Given the description of an element on the screen output the (x, y) to click on. 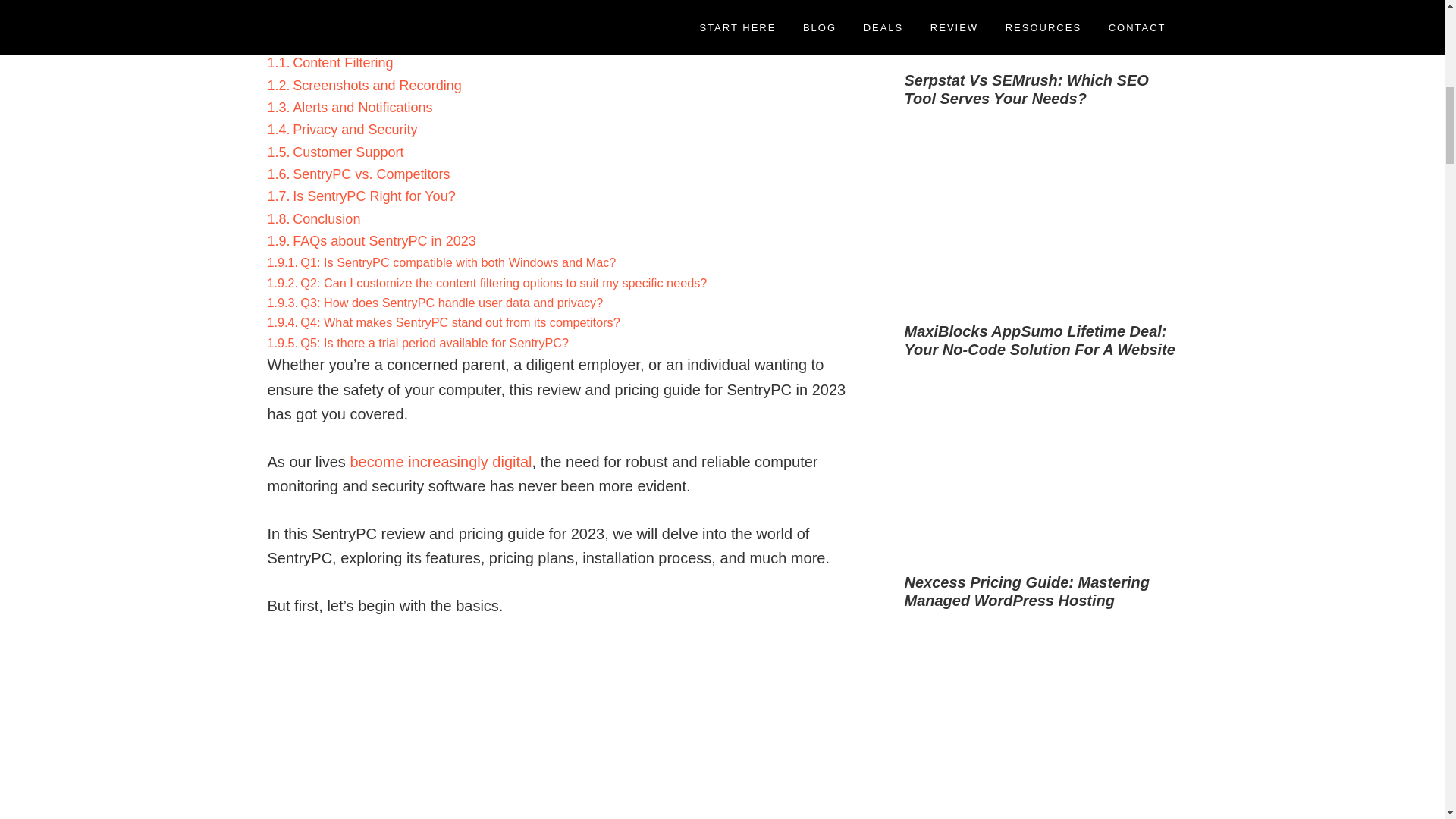
Content Filtering (342, 62)
Alerts and Notifications (362, 107)
User-Friendly Interface (367, 17)
Installation and Setup (363, 0)
Content Filtering (342, 62)
Screenshots and Recording (376, 85)
SentryPC vs. Competitors (370, 174)
Q1: Is SentryPC compatible with both Windows and Mac? (457, 262)
Alerts and Notifications (362, 107)
Privacy and Security (354, 129)
Privacy and Security (354, 129)
User-Friendly Interface (367, 17)
Customer Support (347, 151)
Conclusion (325, 218)
Is SentryPC Right for You? (373, 196)
